Given the description of an element on the screen output the (x, y) to click on. 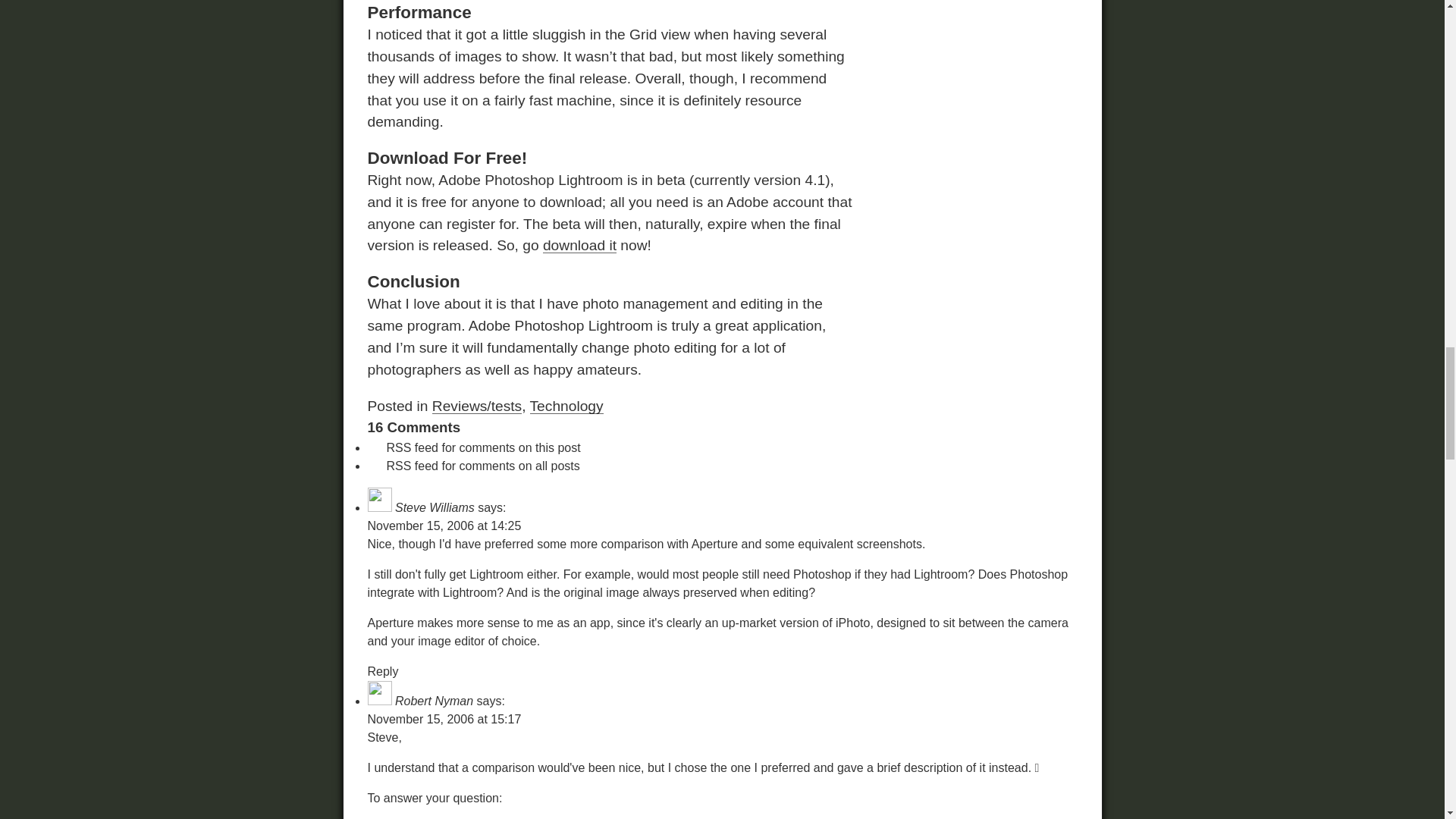
RSS feed for comments on this post (472, 447)
November 15, 2006 at 14:25 (443, 525)
November 15, 2006 at 15:17 (443, 718)
RSS feed for comments on all posts (472, 465)
download it (579, 245)
Steve Williams (434, 507)
Reply (381, 671)
Technology (566, 406)
Robert Nyman (433, 700)
